Given the description of an element on the screen output the (x, y) to click on. 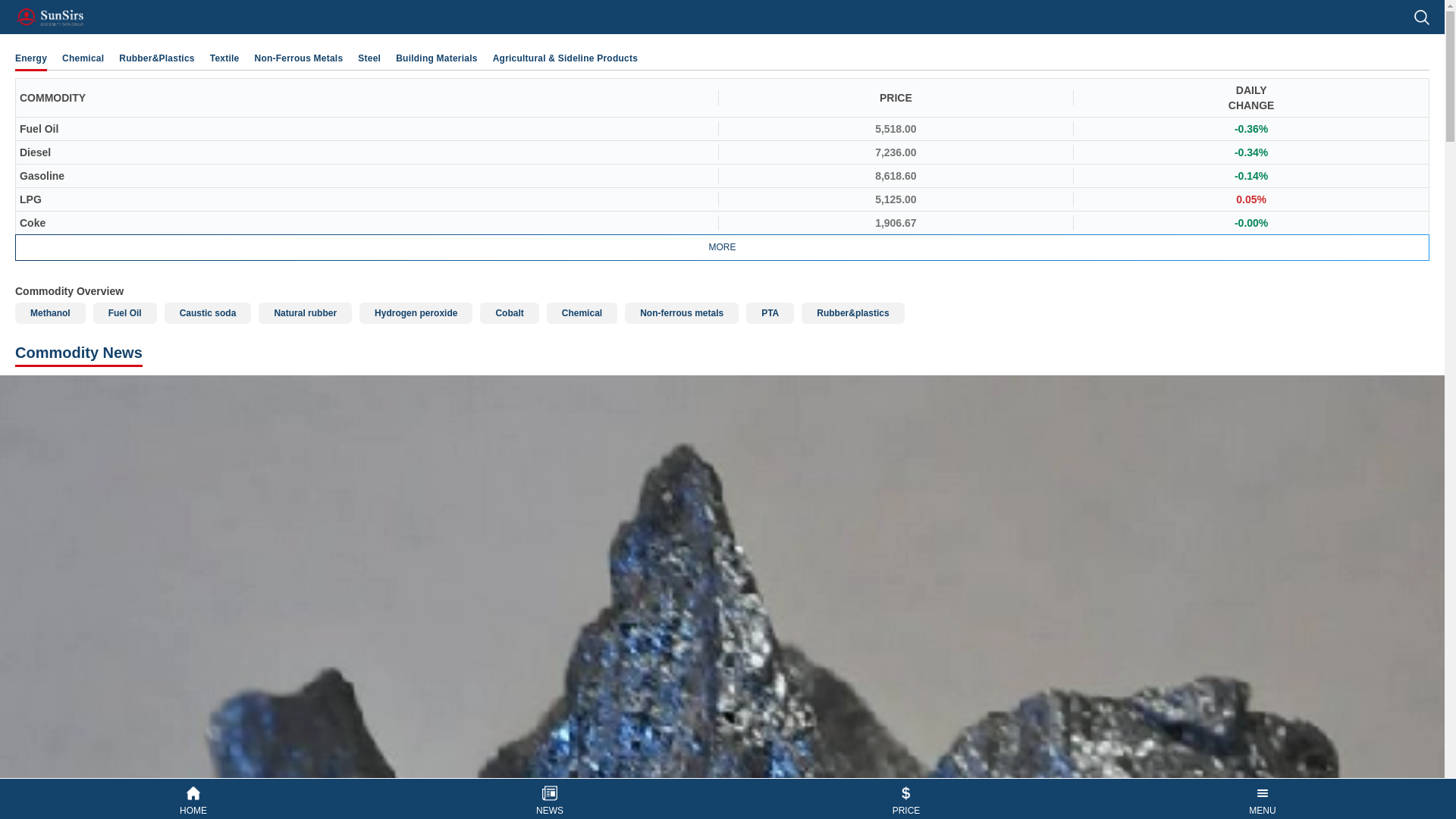
Steel (369, 58)
Hydrogen peroxide (415, 312)
Caustic soda (207, 312)
Natural rubber (305, 312)
MORE (722, 247)
Chemical (82, 58)
PTA (769, 312)
Non-Ferrous Metals (298, 58)
Building Materials (436, 58)
Non-ferrous metals (681, 312)
Textile (224, 58)
Fuel Oil (125, 312)
Energy (30, 58)
Cobalt (509, 312)
Methanol (49, 312)
